Given the description of an element on the screen output the (x, y) to click on. 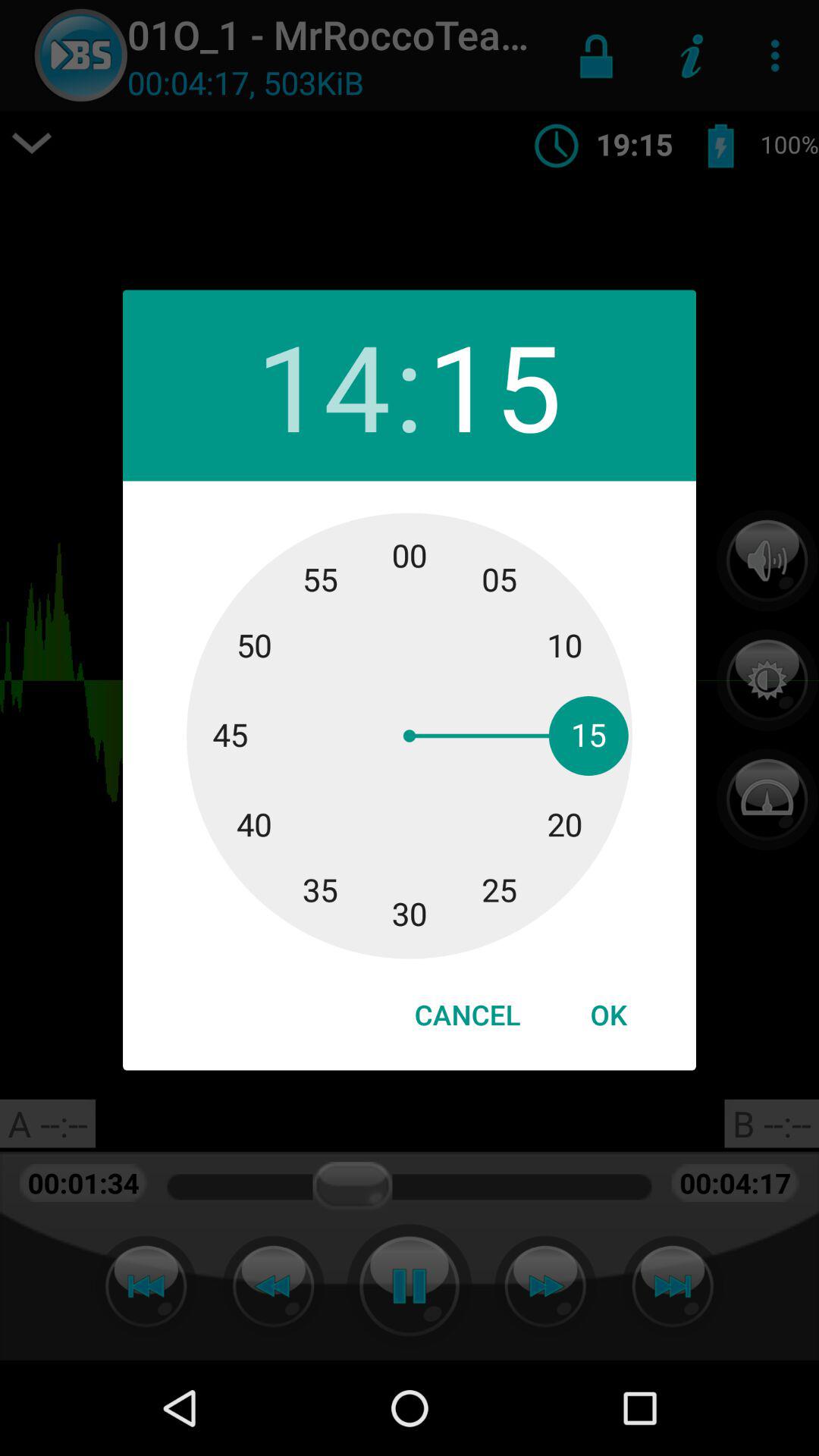
click the icon next to the cancel icon (608, 1014)
